Given the description of an element on the screen output the (x, y) to click on. 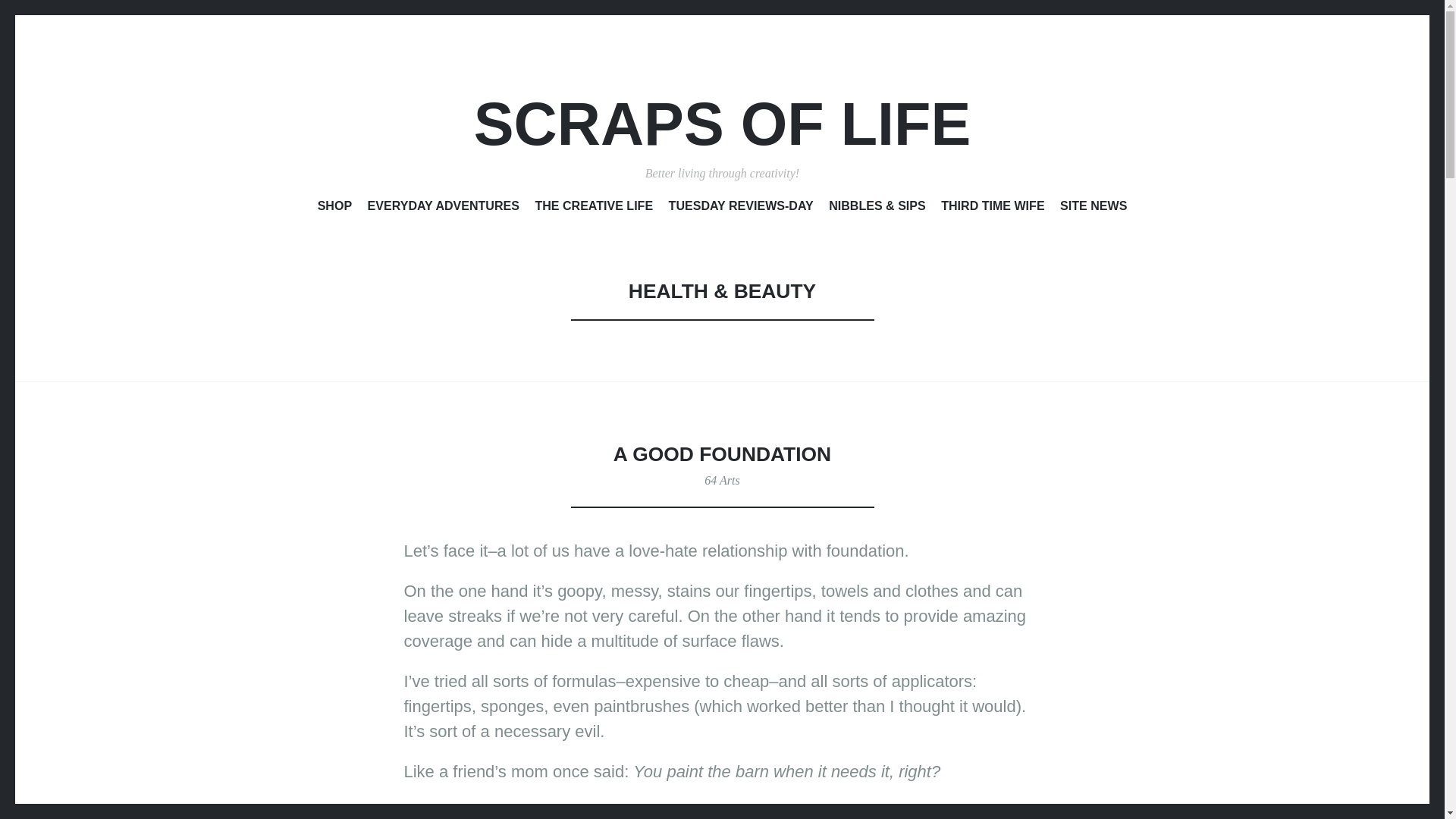
TUESDAY REVIEWS-DAY (740, 208)
EVERYDAY ADVENTURES (443, 208)
SITE NEWS (1092, 208)
THIRD TIME WIFE (991, 208)
THE CREATIVE LIFE (593, 208)
SCRAPS OF LIFE (722, 123)
A GOOD FOUNDATION (721, 454)
64 Arts (721, 480)
SHOP (334, 208)
